Given the description of an element on the screen output the (x, y) to click on. 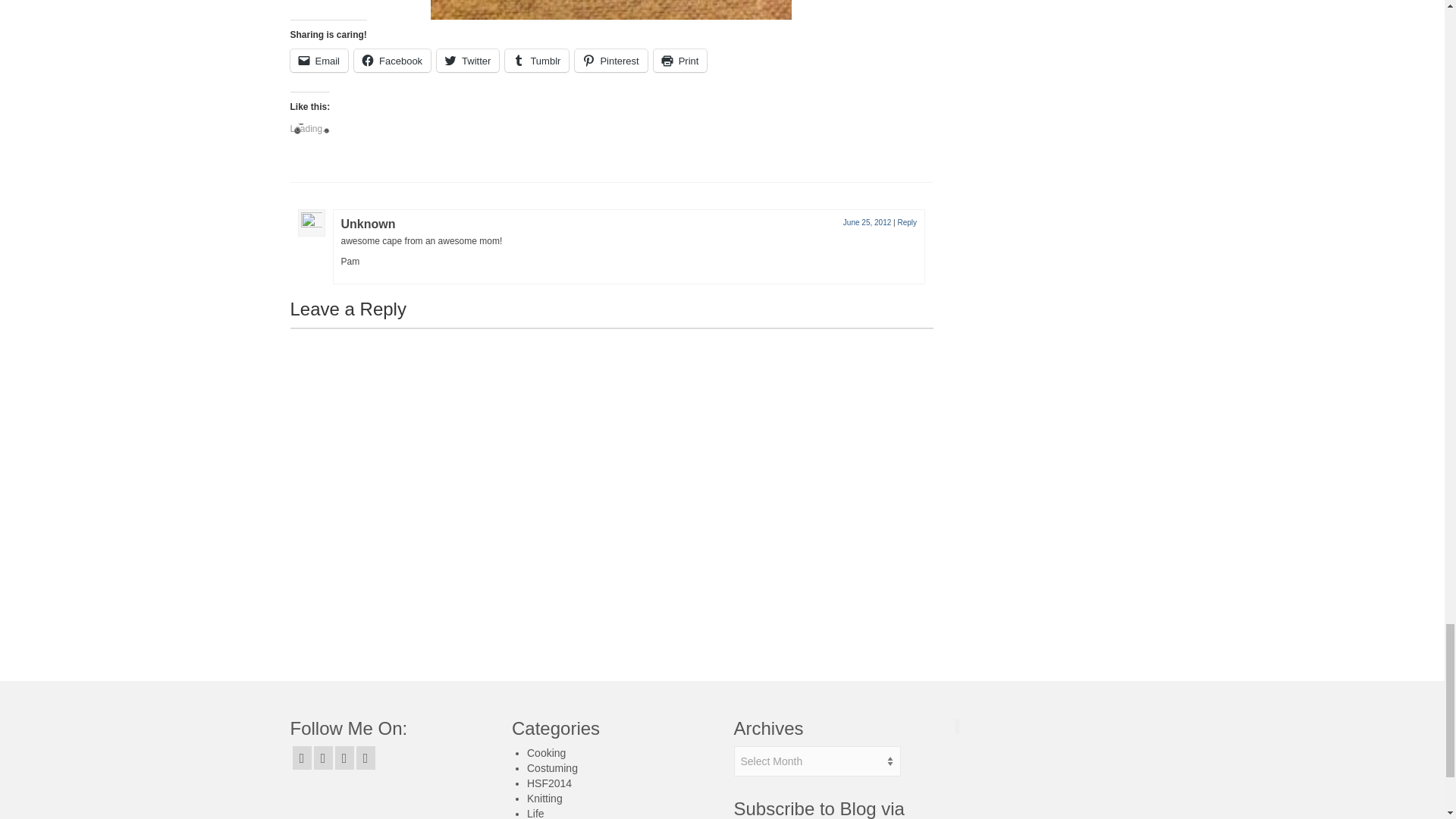
Tumblr (537, 60)
Click to email a link to a friend (318, 60)
Email (318, 60)
Twitter (467, 60)
Print (680, 60)
Click to share on Facebook (391, 60)
Click to share on Tumblr (537, 60)
Pinterest (610, 60)
Facebook (391, 60)
